Given the description of an element on the screen output the (x, y) to click on. 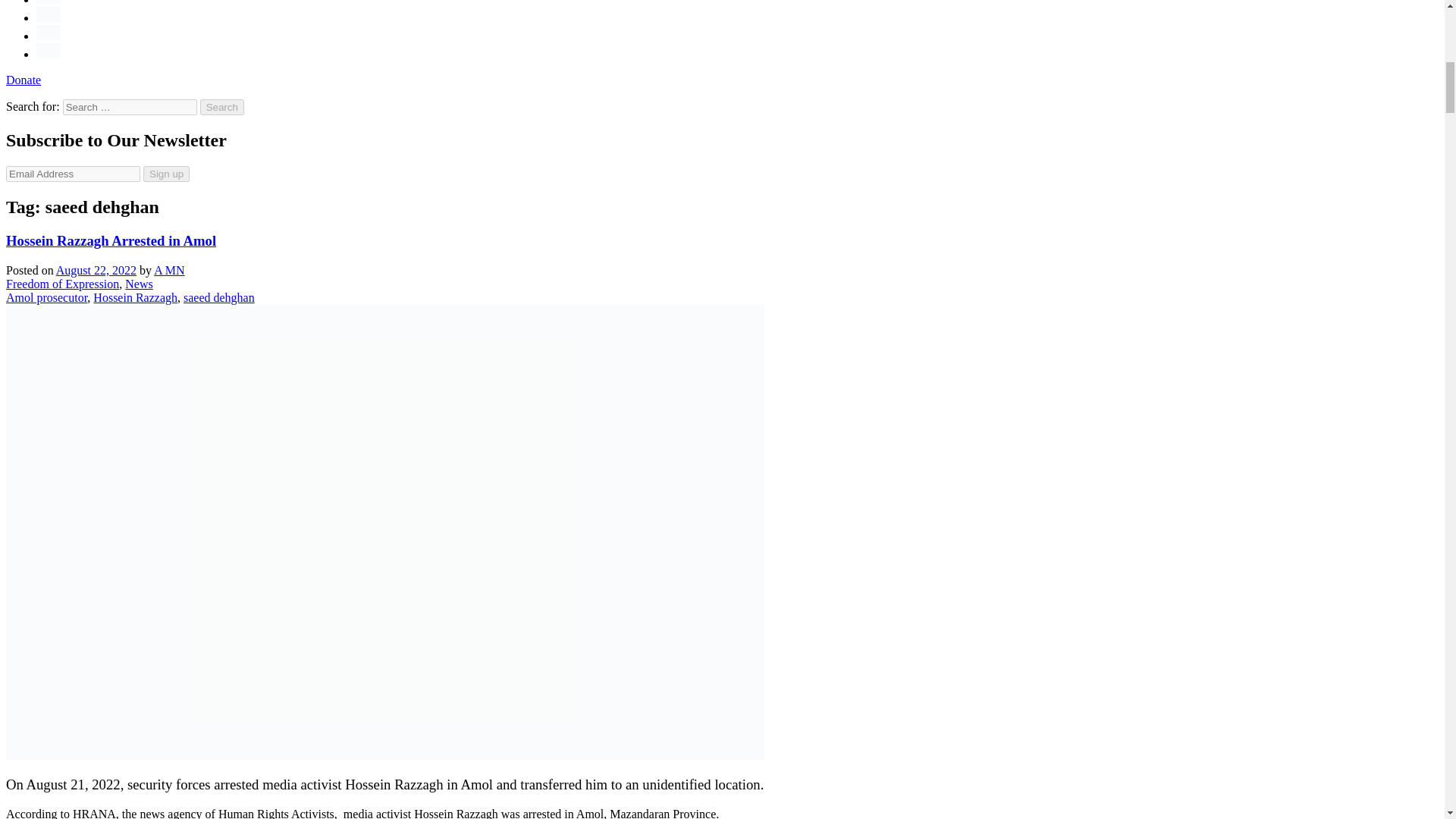
Donate (22, 79)
Hossein Razzagh Arrested in Amol (110, 240)
Hossein Razzagh (135, 297)
Search (222, 107)
Amol prosecutor (46, 297)
Freedom of Expression (62, 283)
Search (222, 107)
Sign up (165, 173)
Sign up (165, 173)
News (138, 283)
Search (222, 107)
saeed dehghan (218, 297)
August 22, 2022 (96, 269)
A MN (169, 269)
